Given the description of an element on the screen output the (x, y) to click on. 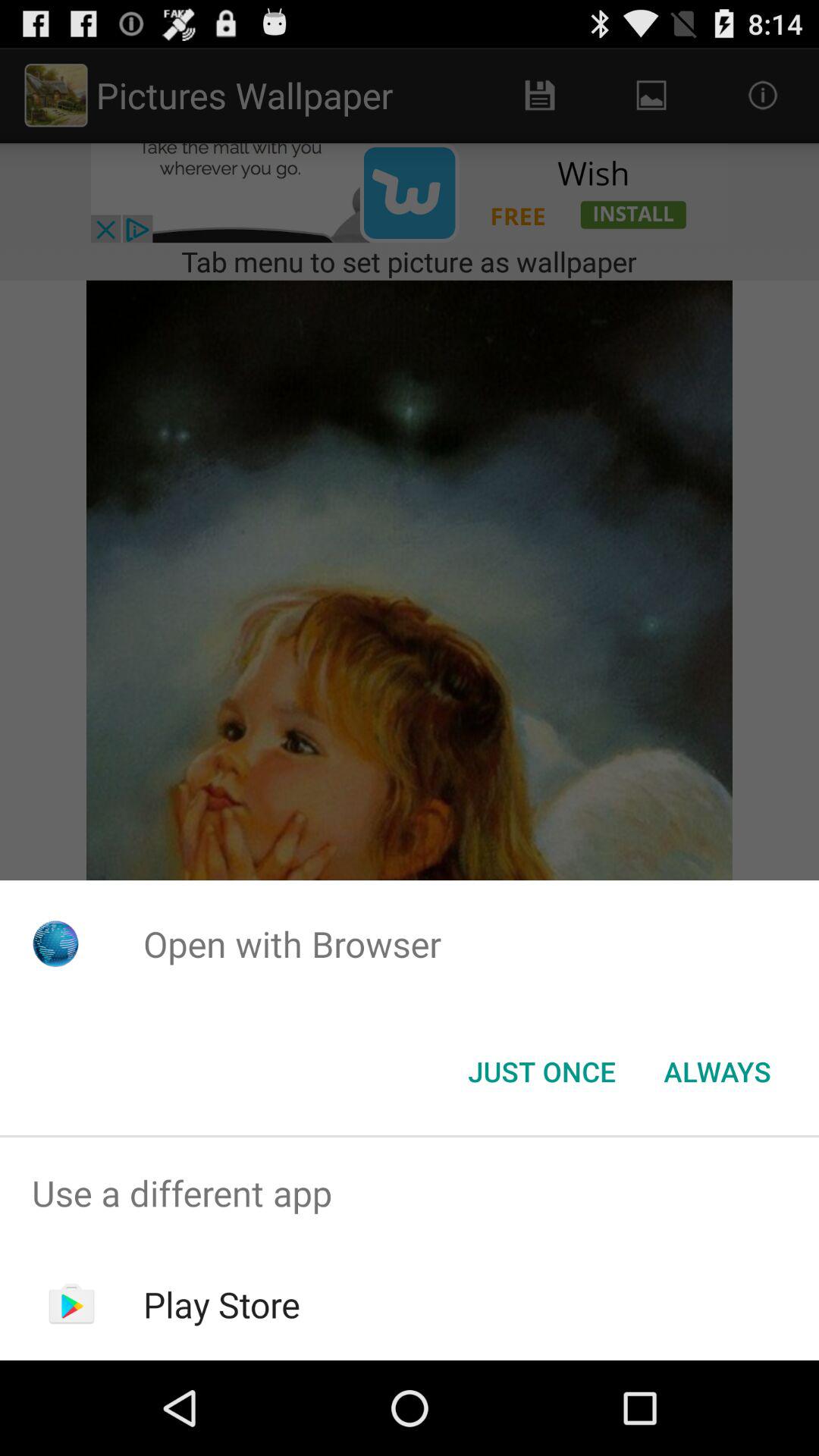
jump until the play store (221, 1304)
